Given the description of an element on the screen output the (x, y) to click on. 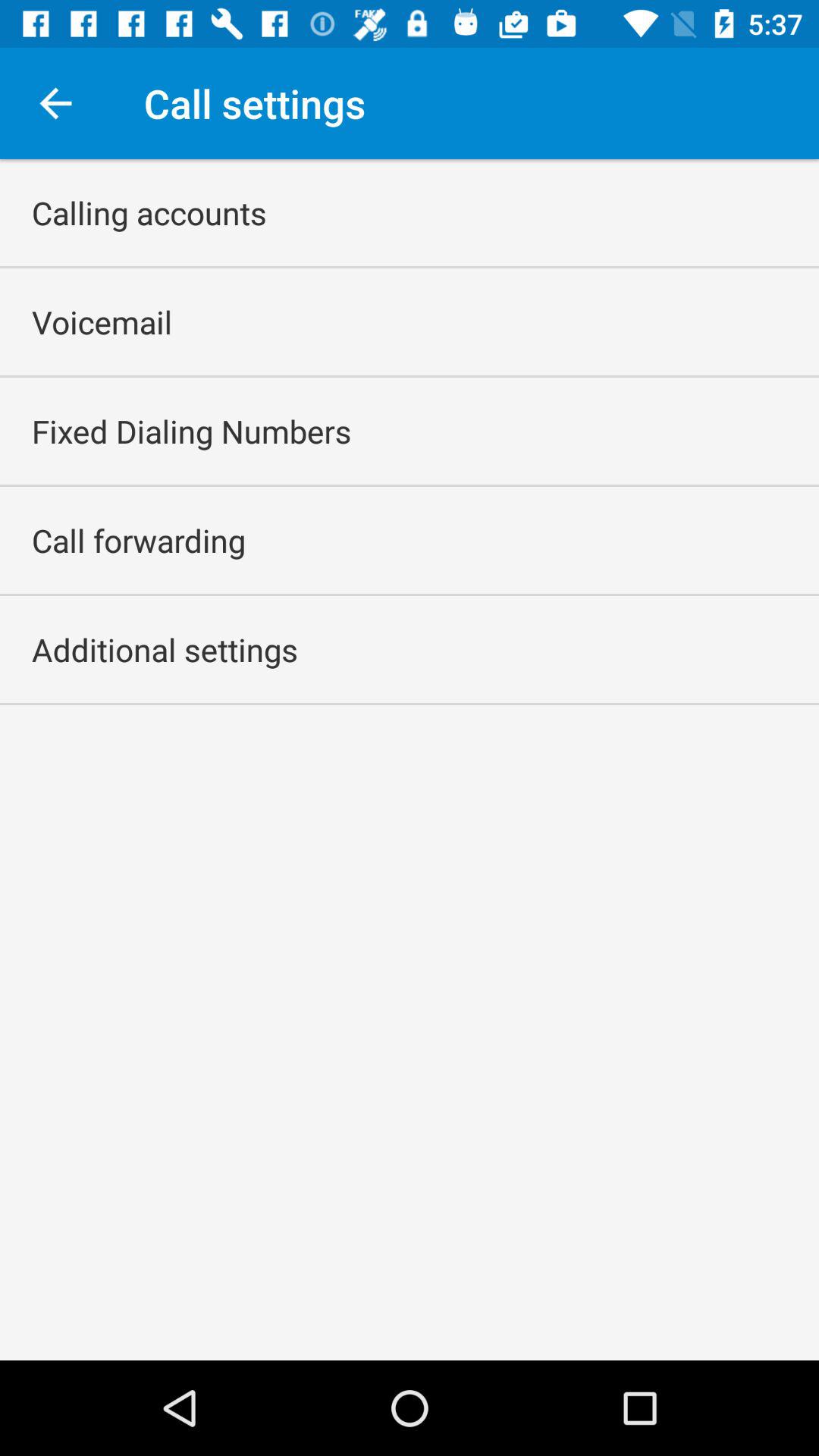
choose the app above the fixed dialing numbers item (101, 321)
